Given the description of an element on the screen output the (x, y) to click on. 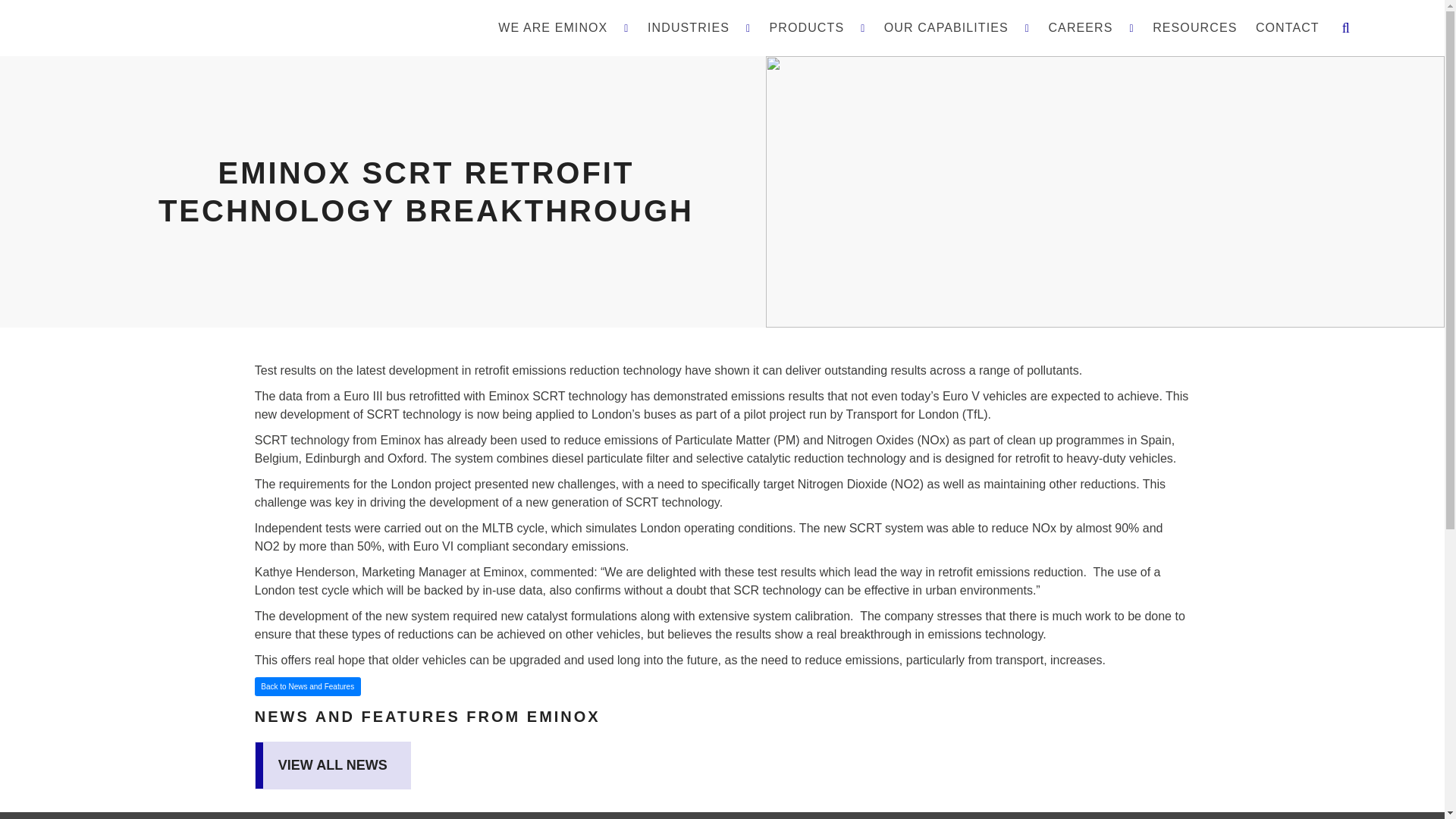
INDUSTRIES (699, 27)
CONTACT (1287, 27)
PRODUCTS (818, 27)
RESOURCES (1194, 27)
CAREERS (1091, 27)
WE ARE EMINOX (562, 27)
OUR CAPABILITIES (956, 27)
